Given the description of an element on the screen output the (x, y) to click on. 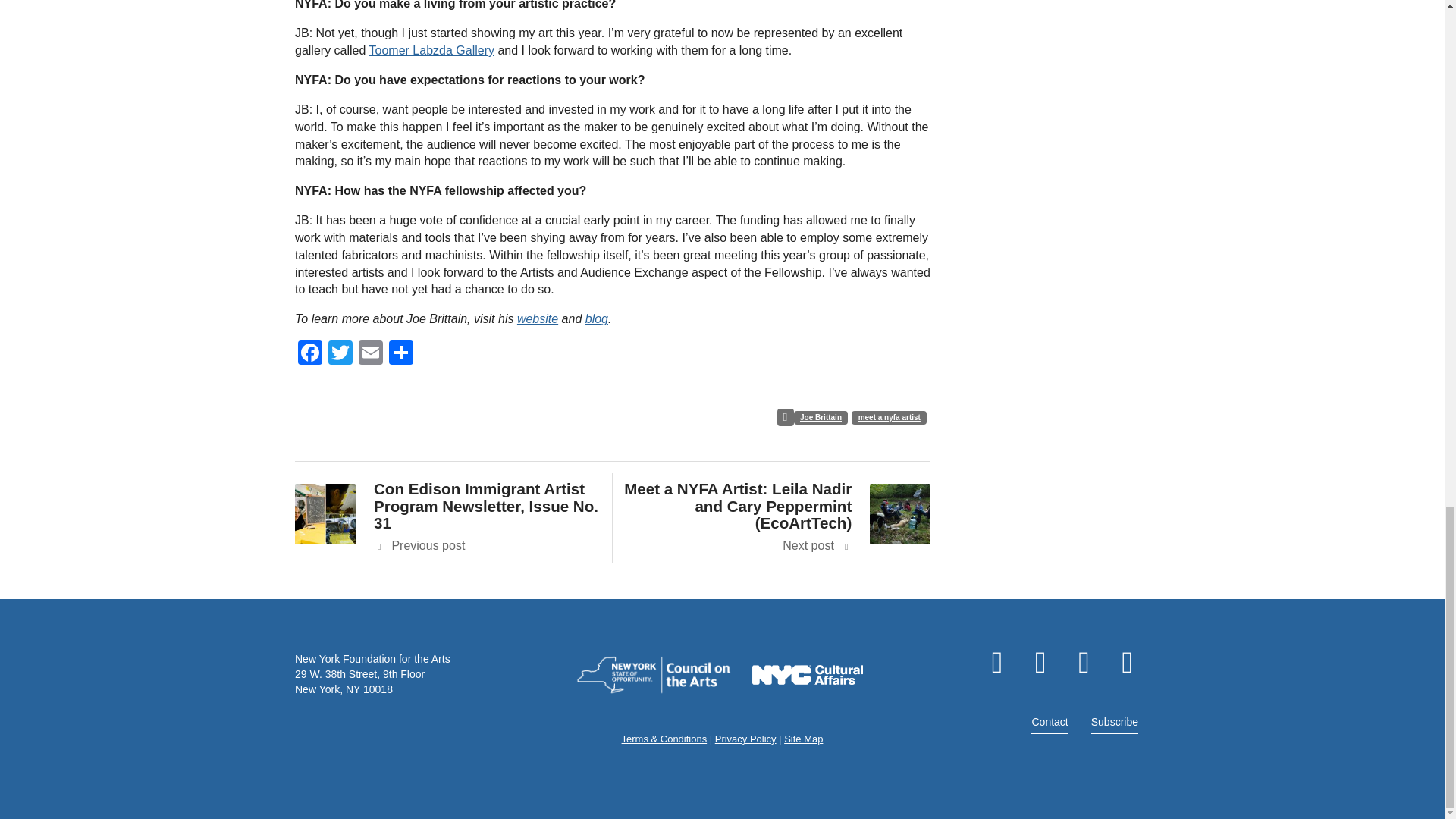
Facebook (309, 354)
Email (370, 354)
Twitter (339, 354)
